Given the description of an element on the screen output the (x, y) to click on. 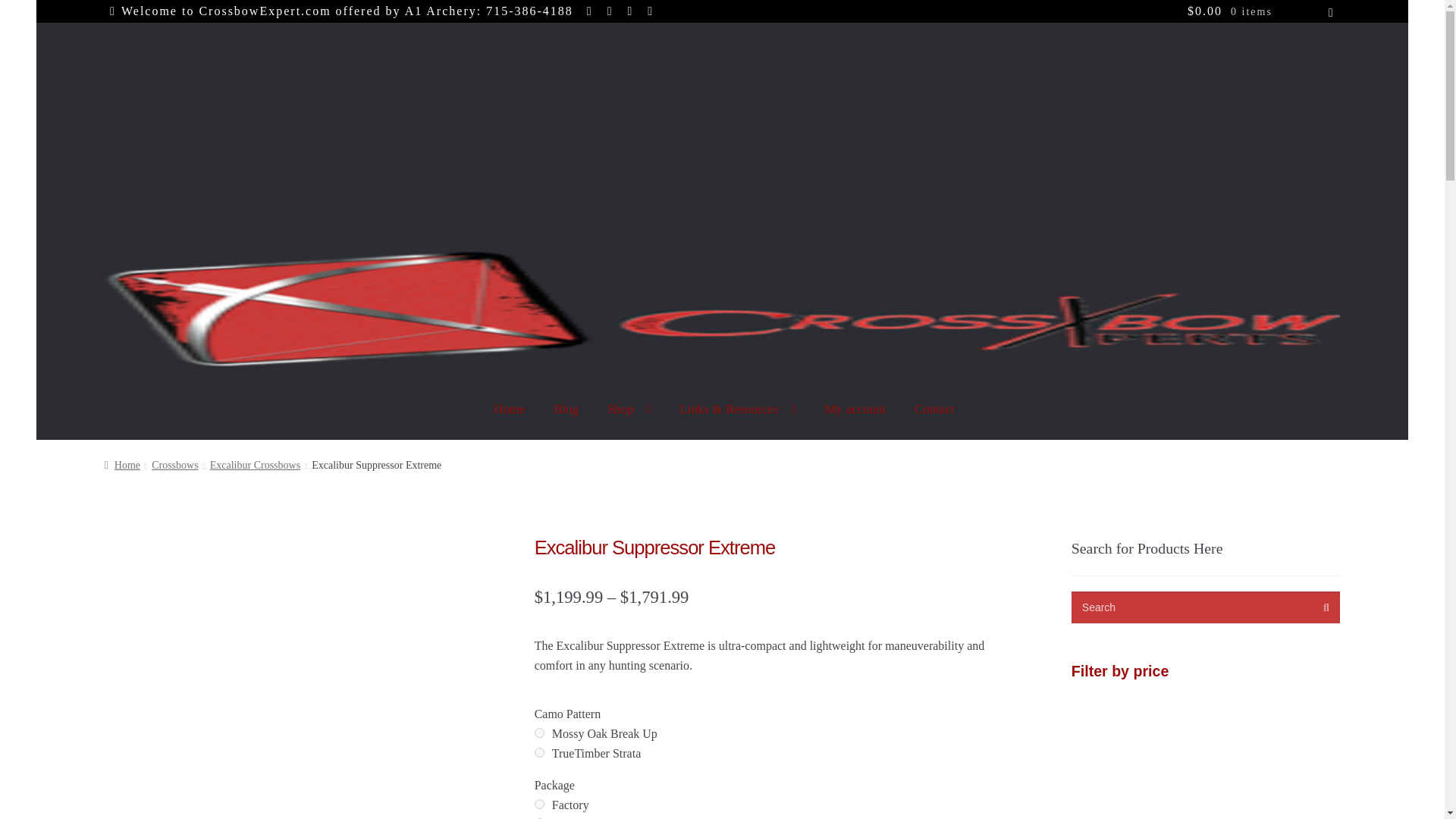
TrueTimber Strata (539, 752)
View your shopping cart (1260, 11)
Shop (628, 408)
Mossy Oak Break Up (539, 732)
Factory (539, 804)
Home (509, 408)
